Given the description of an element on the screen output the (x, y) to click on. 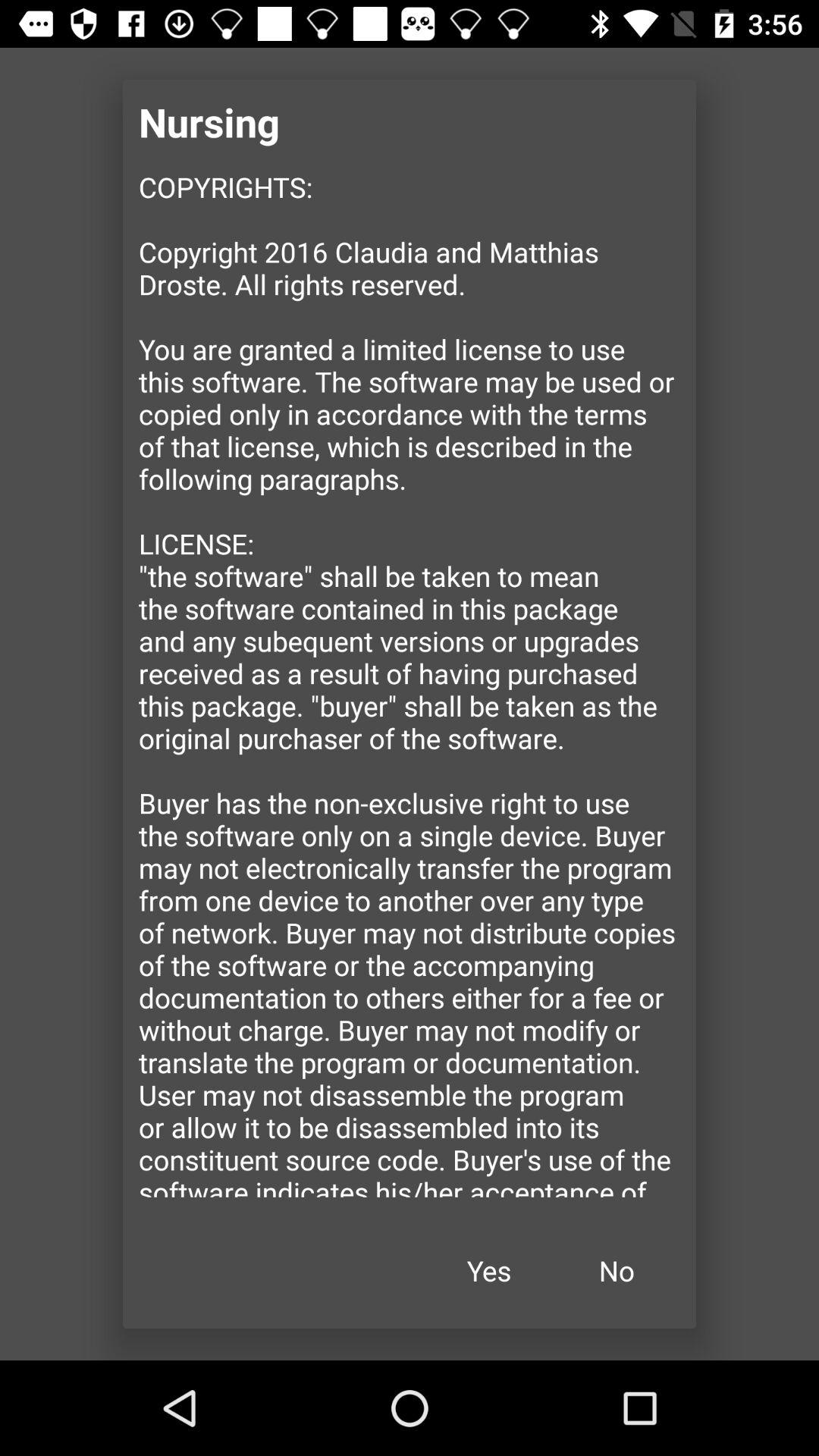
press the icon at the bottom (488, 1270)
